Given the description of an element on the screen output the (x, y) to click on. 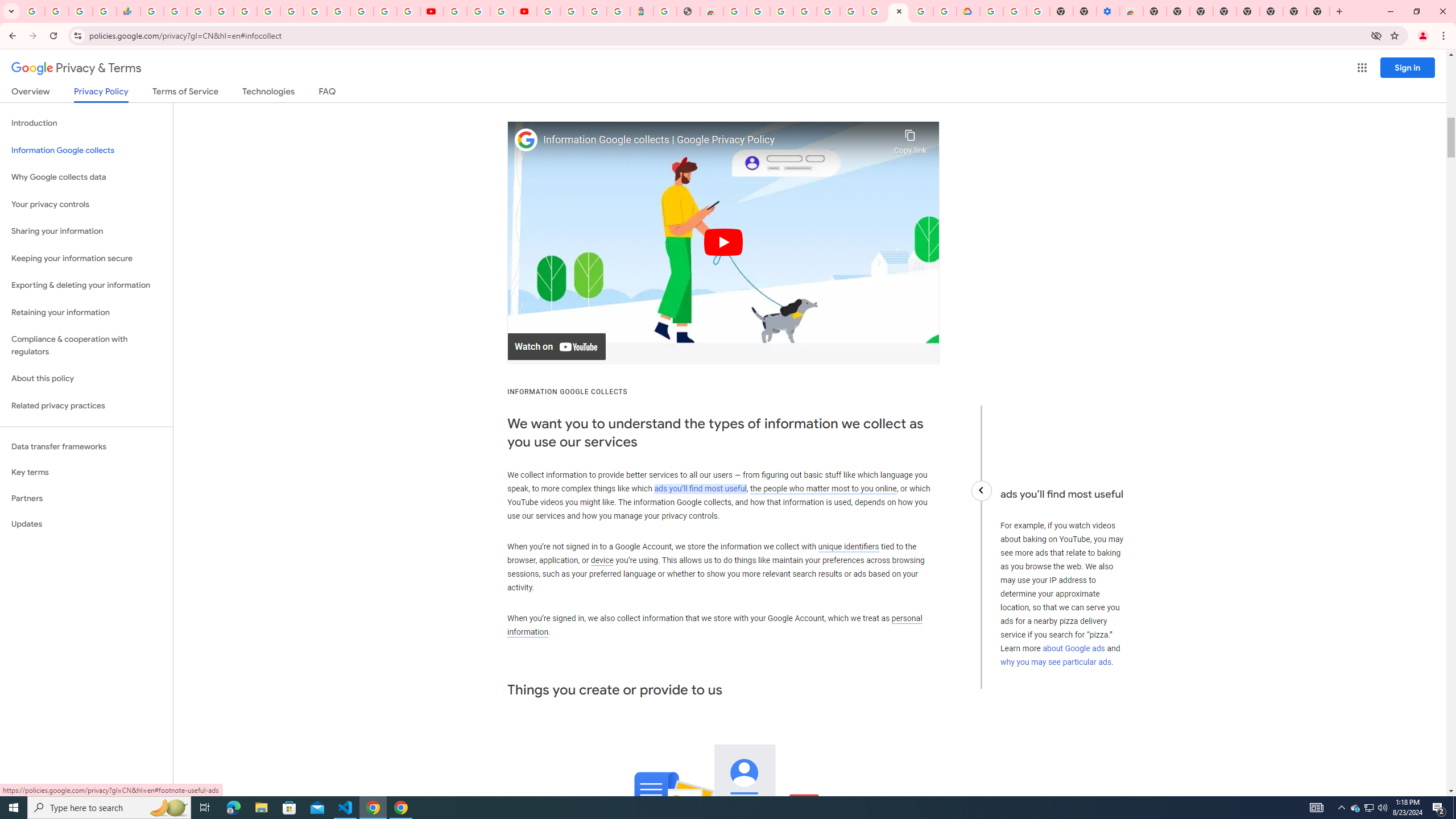
Google Account Help (874, 11)
Sign in - Google Accounts (338, 11)
Your privacy controls (86, 204)
Sign in - Google Accounts (547, 11)
Browse the Google Chrome Community - Google Chrome Community (945, 11)
Sign in - Google Accounts (992, 11)
Privacy Checkup (408, 11)
Google Account Help (478, 11)
